Given the description of an element on the screen output the (x, y) to click on. 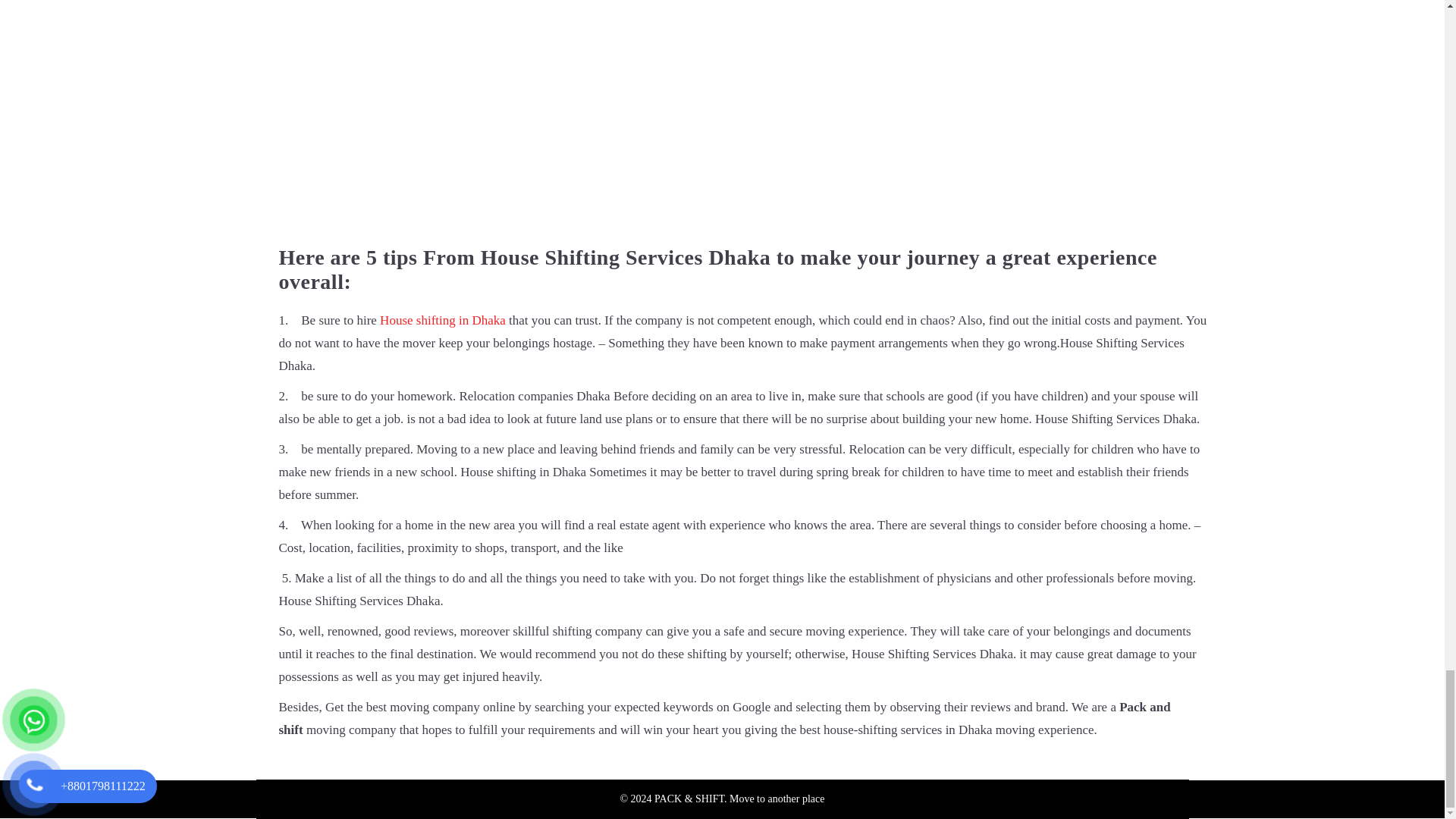
YouTube video player (521, 115)
